Given the description of an element on the screen output the (x, y) to click on. 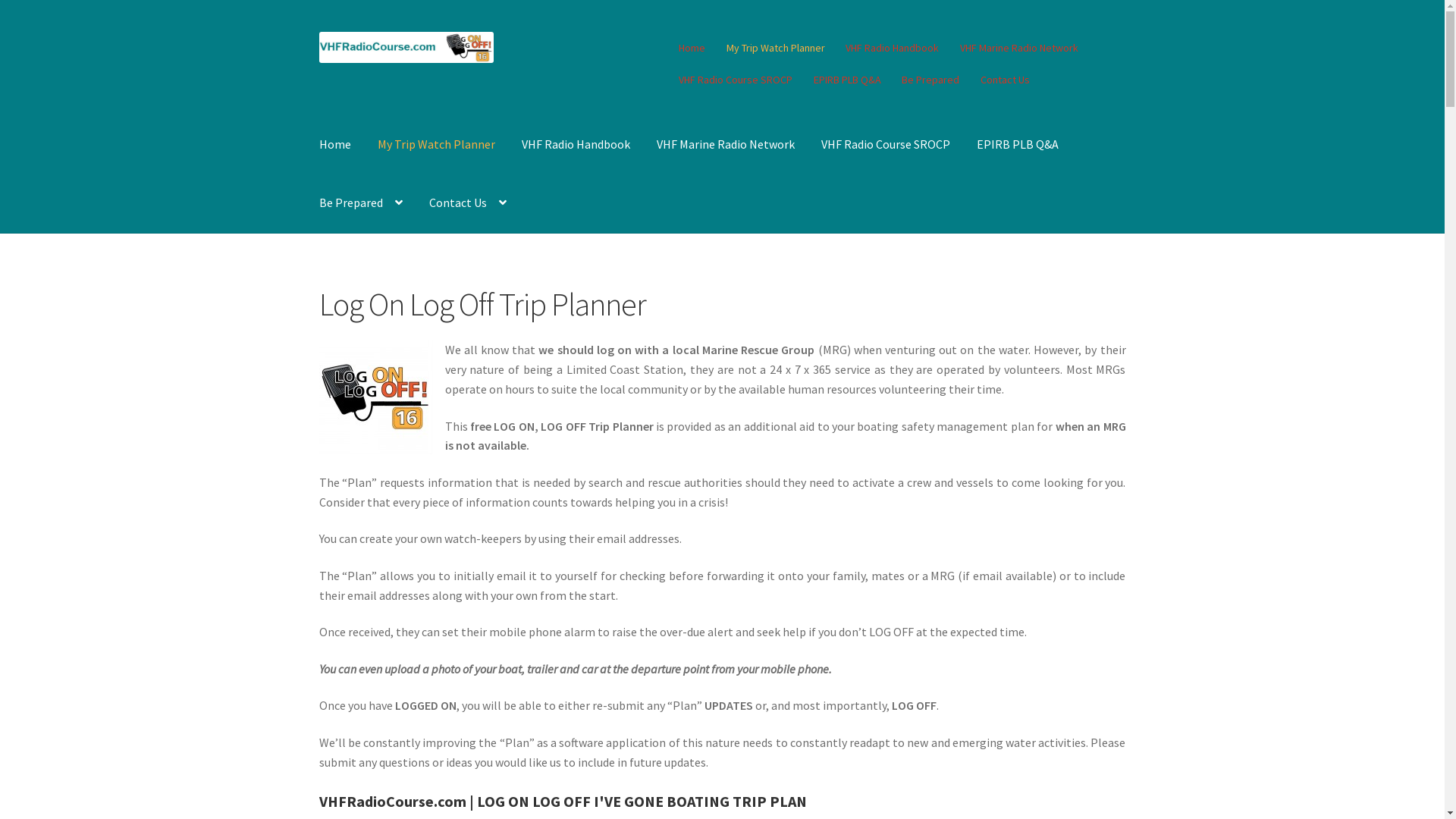
My Trip Watch Planner Element type: text (436, 144)
Be Prepared Element type: text (360, 202)
Contact Us Element type: text (1005, 79)
VHF Marine Radio Network Element type: text (725, 144)
LOG ON LOG OFF 16 Element type: hover (376, 397)
Be Prepared Element type: text (930, 79)
VHF Radio Course SROCP Element type: text (885, 144)
Contact Us Element type: text (467, 202)
EPIRB PLB Q&A Element type: text (847, 79)
EPIRB PLB Q&A Element type: text (1017, 144)
VHF Radio Handbook Element type: text (892, 47)
VHF Radio Handbook Element type: text (575, 144)
Home Element type: text (692, 47)
My Trip Watch Planner Element type: text (775, 47)
VHF Marine Radio Network Element type: text (1019, 47)
Skip to navigation Element type: text (318, 31)
VHF Radio Course SROCP Element type: text (735, 79)
Home Element type: text (335, 144)
